Given the description of an element on the screen output the (x, y) to click on. 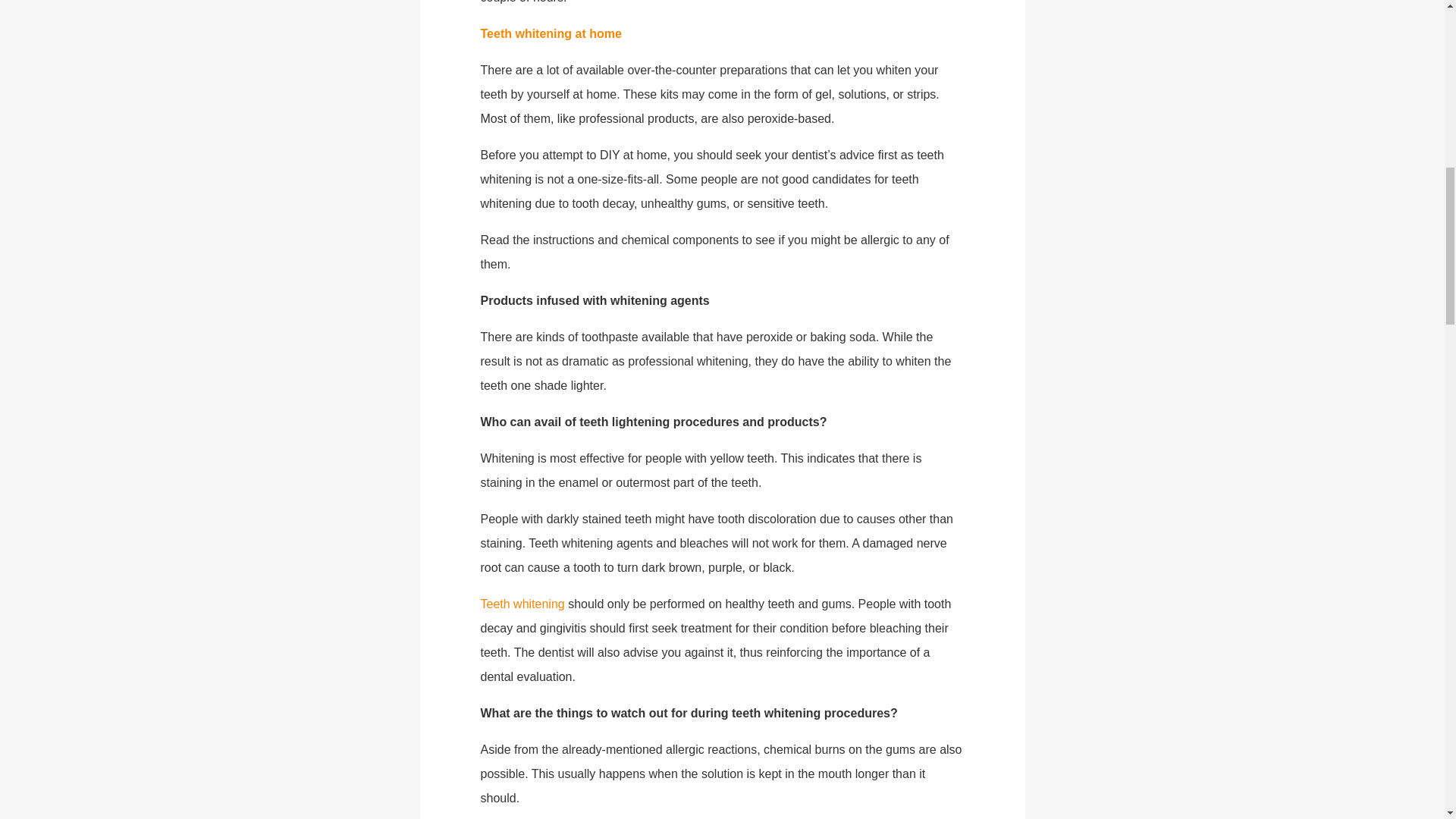
Teeth whitening at home (550, 33)
Teeth whitening (522, 603)
